Given the description of an element on the screen output the (x, y) to click on. 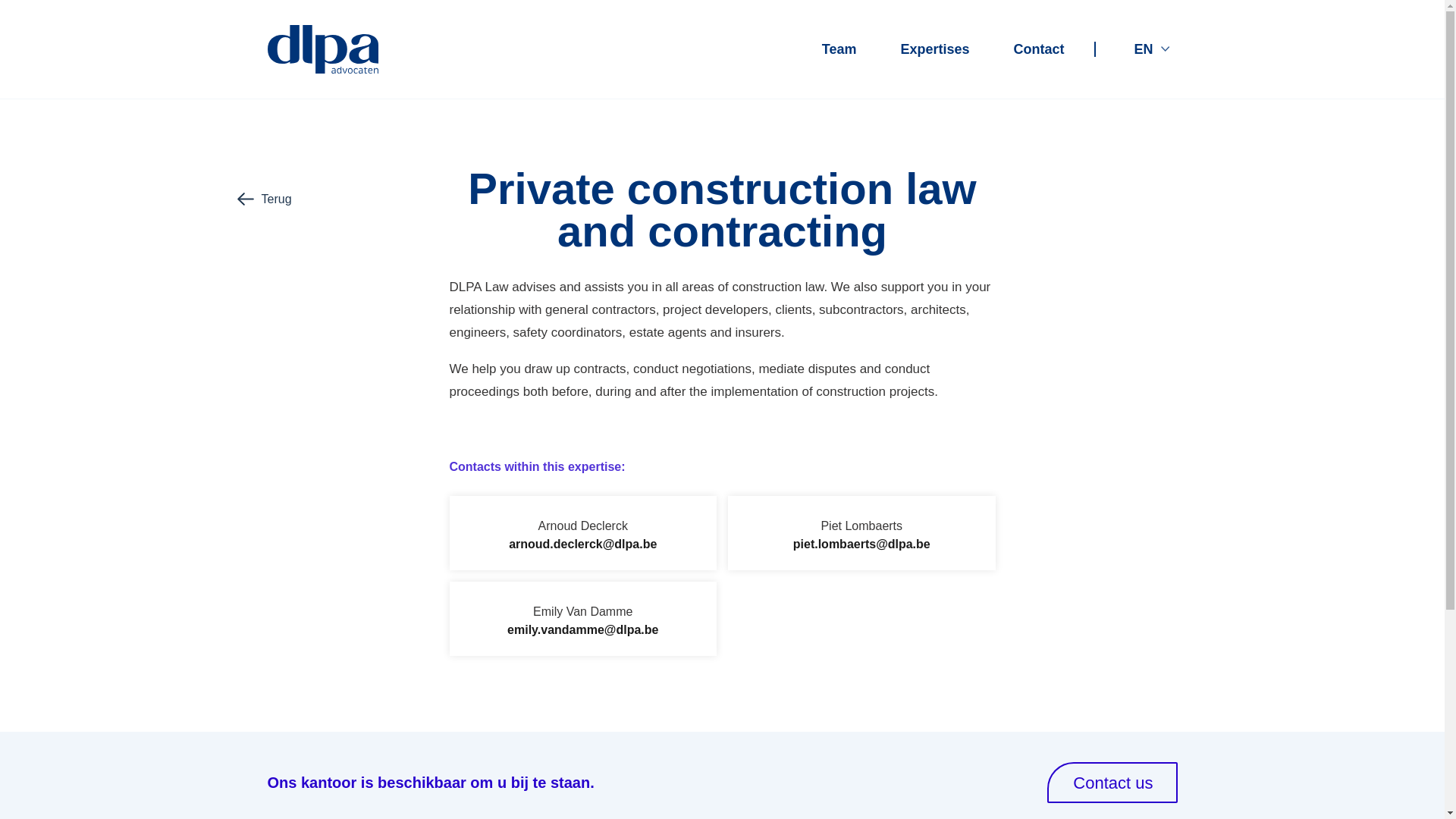
Expertises (934, 48)
Team (839, 48)
Contact (1038, 48)
